Given the description of an element on the screen output the (x, y) to click on. 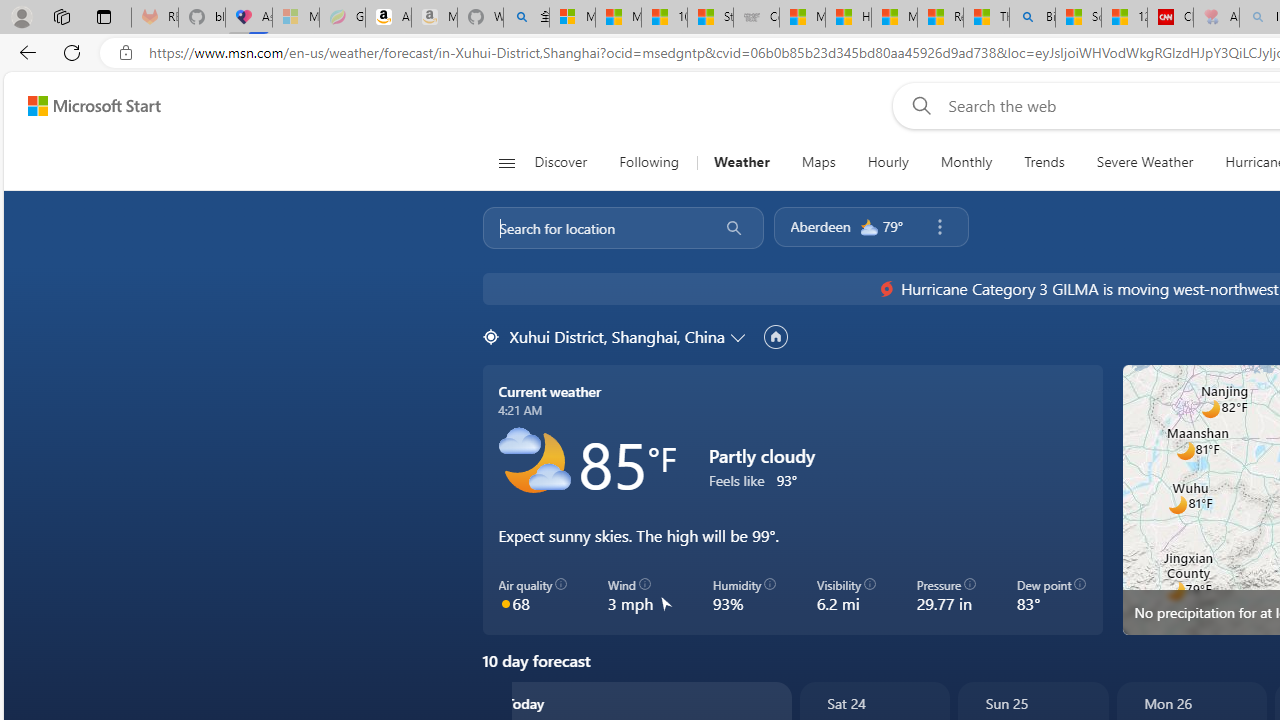
Monthly (65, 611)
Set as primary location (775, 336)
Maps (818, 162)
Trends (1044, 162)
Recipes - MSN (939, 17)
Trends (1044, 162)
Monthly (966, 162)
Maps (818, 162)
